Given the description of an element on the screen output the (x, y) to click on. 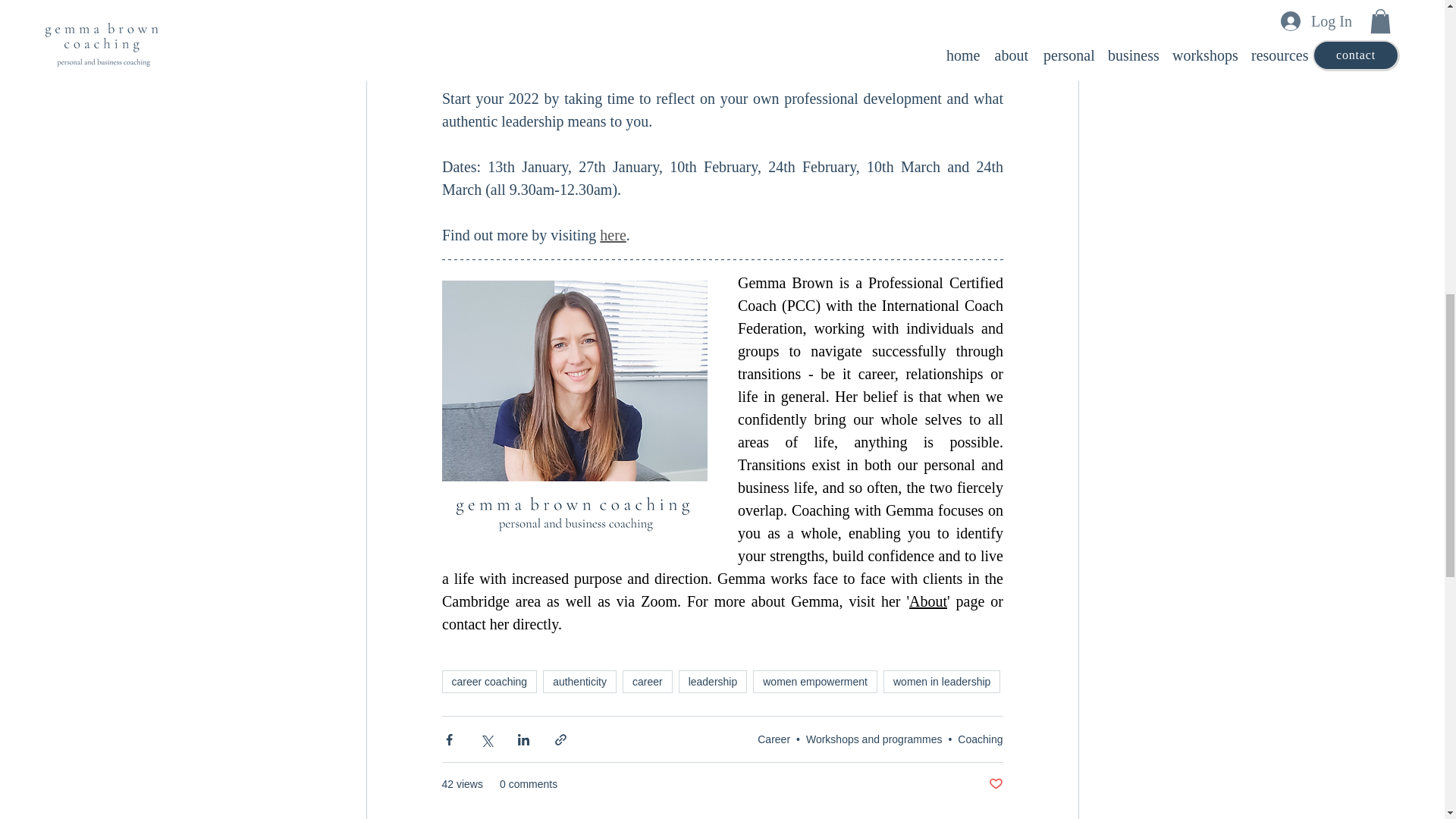
About (927, 600)
career (647, 681)
here (612, 234)
leadership (713, 681)
authenticity (579, 681)
career coaching (489, 681)
